Given the description of an element on the screen output the (x, y) to click on. 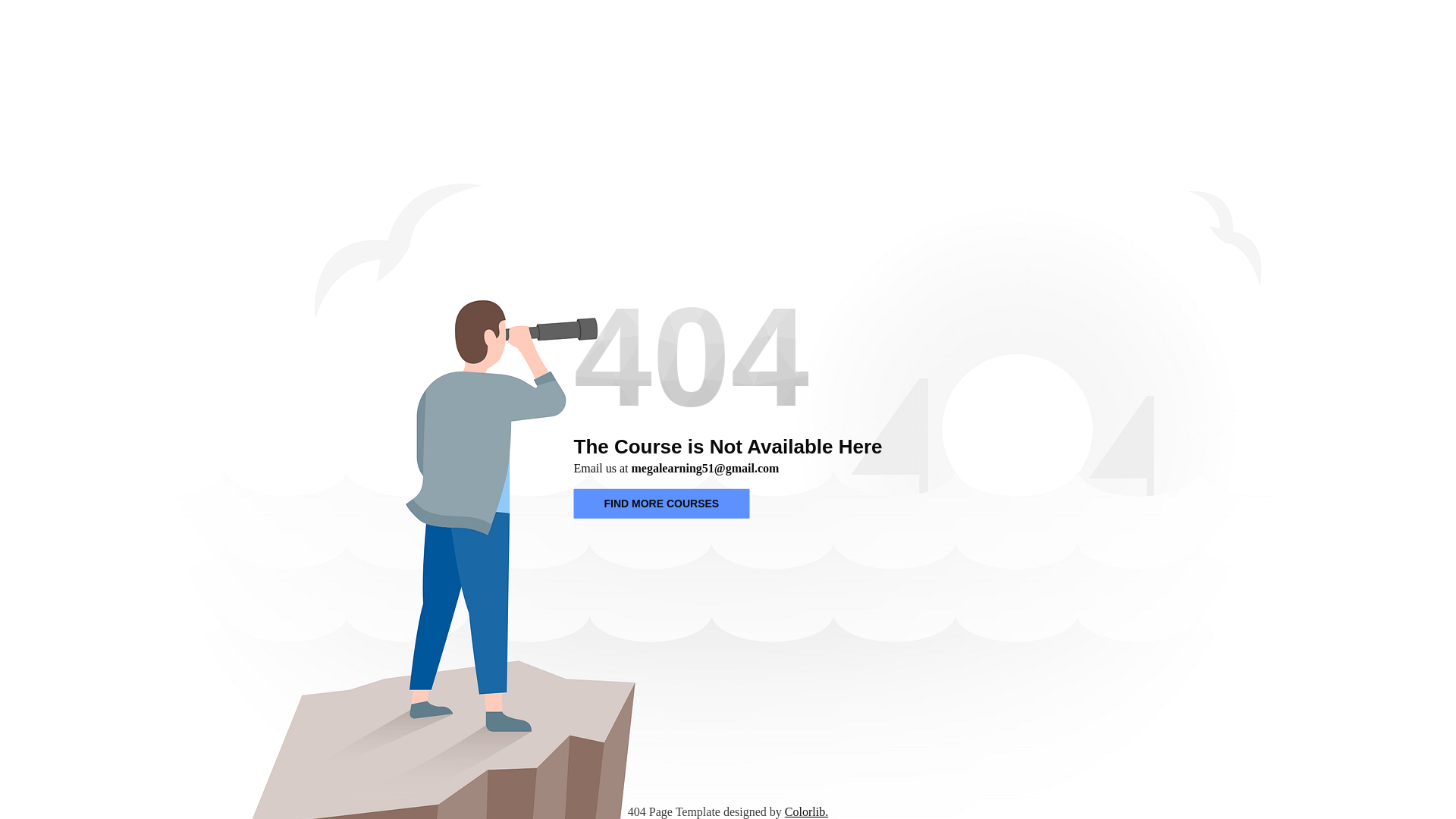
Colorlib. (806, 811)
FIND MORE COURSES (661, 503)
